Given the description of an element on the screen output the (x, y) to click on. 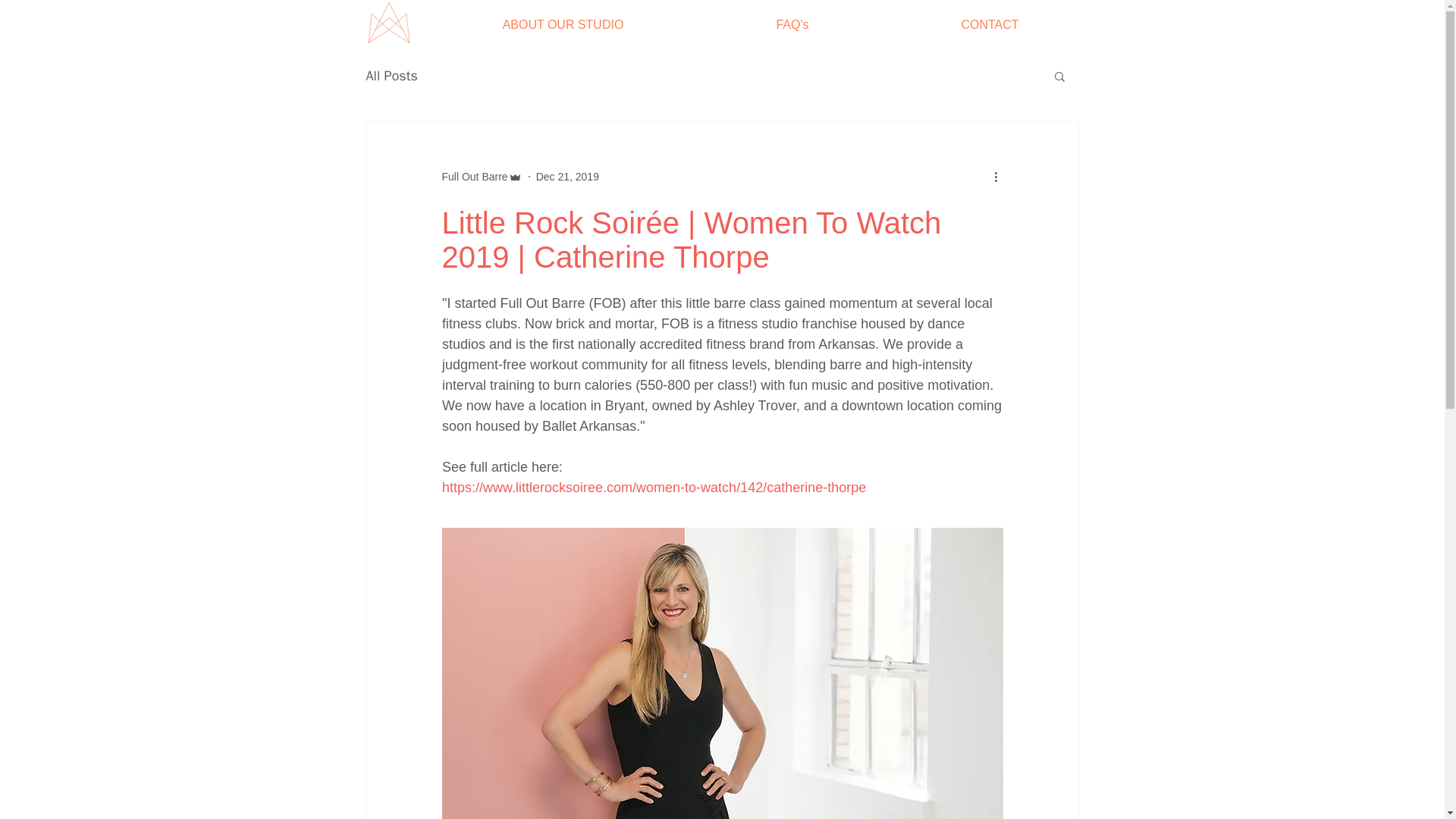
FAQ's (791, 24)
All Posts (390, 75)
Full Out Barre (481, 176)
Dec 21, 2019 (566, 175)
CONTACT (989, 24)
Full Out Barre (473, 176)
